Given the description of an element on the screen output the (x, y) to click on. 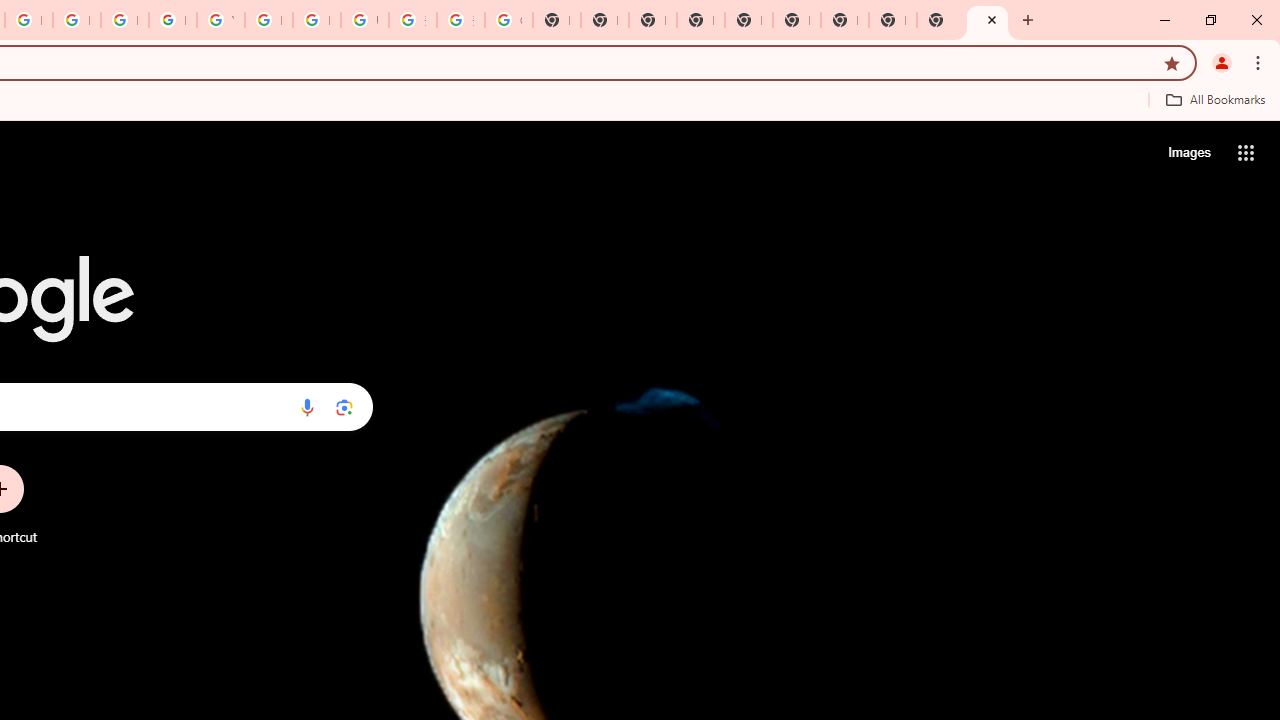
Google Images (508, 20)
Privacy Help Center - Policies Help (76, 20)
